Given the description of an element on the screen output the (x, y) to click on. 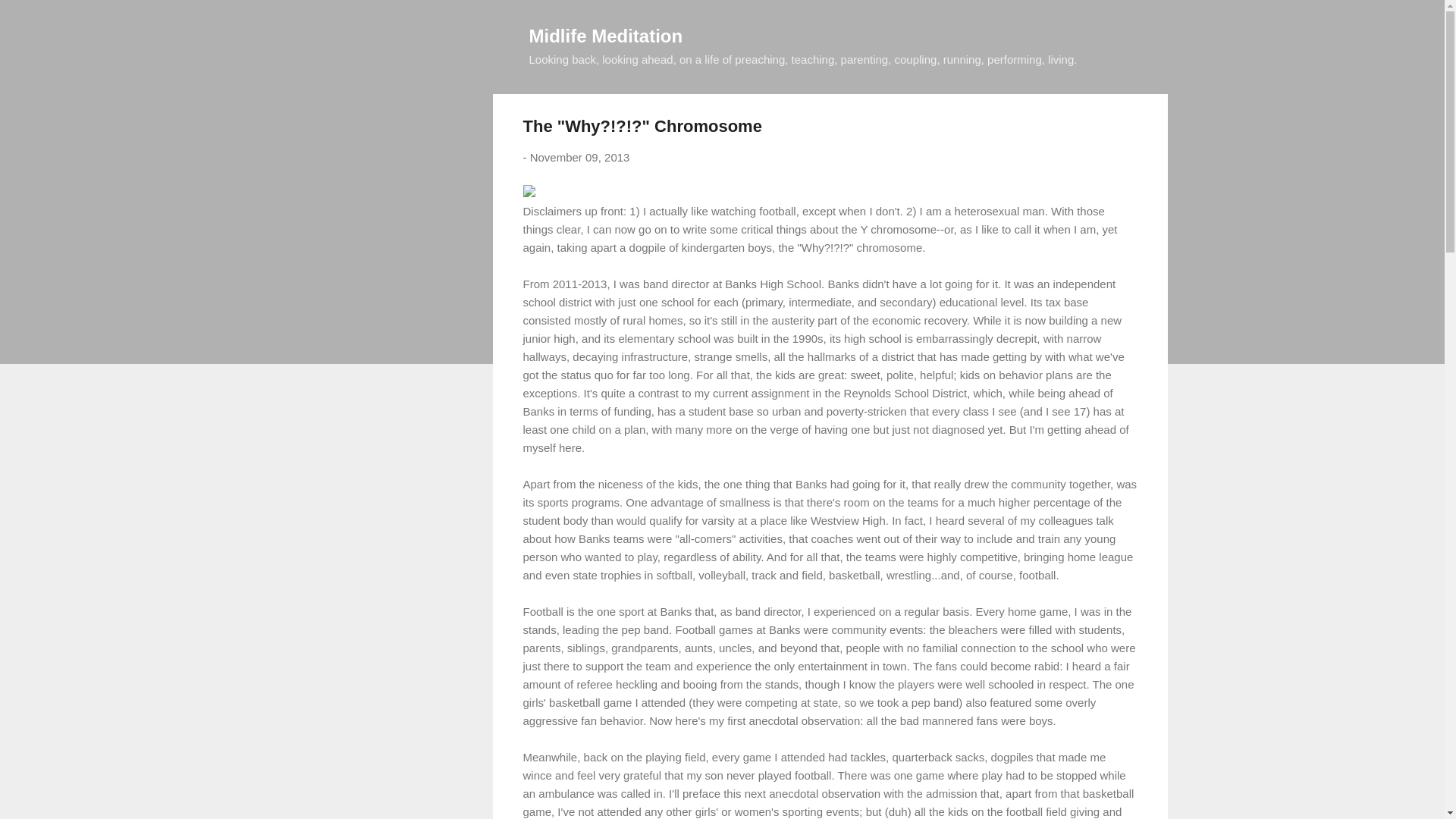
Search (29, 18)
November 09, 2013 (579, 156)
permanent link (579, 156)
Midlife Meditation (605, 35)
